Given the description of an element on the screen output the (x, y) to click on. 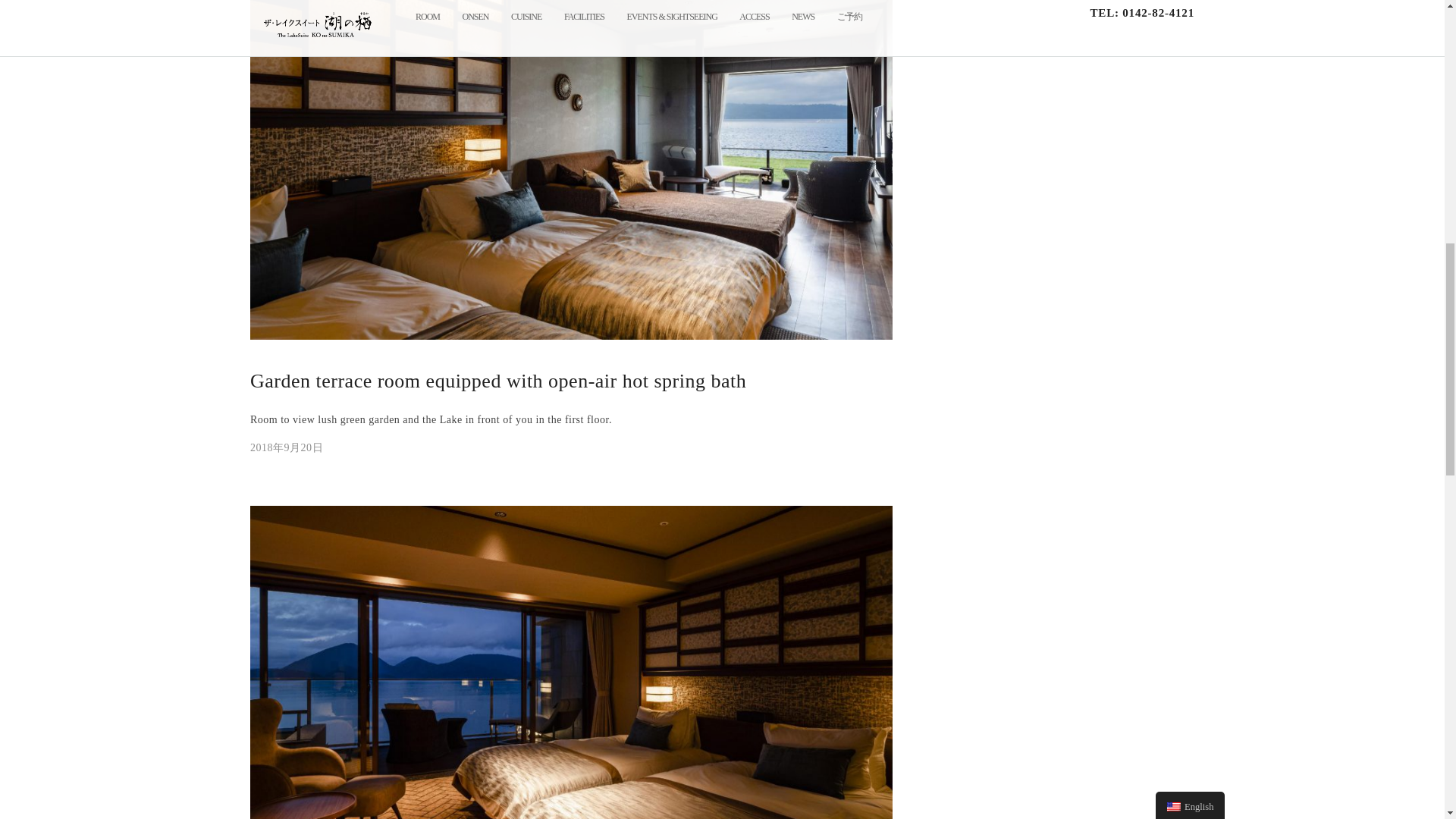
Garden terrace room equipped with open-air hot spring bath (497, 381)
Garden terrace room equipped with open-air hot spring bath (286, 447)
Garden terrace room equipped with open-air hot spring bath (497, 381)
